Given the description of an element on the screen output the (x, y) to click on. 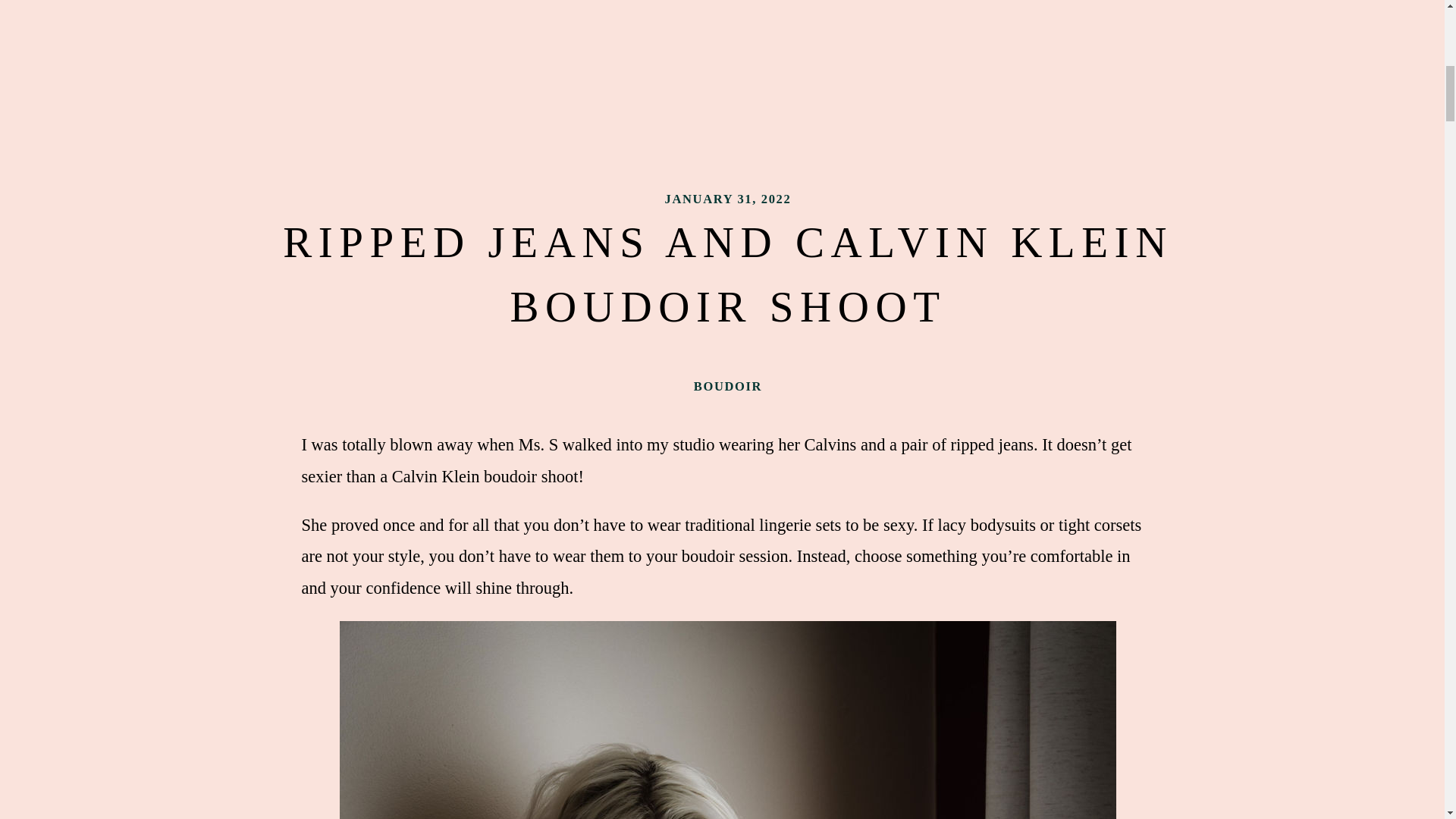
BOUDOIR (727, 386)
